Given the description of an element on the screen output the (x, y) to click on. 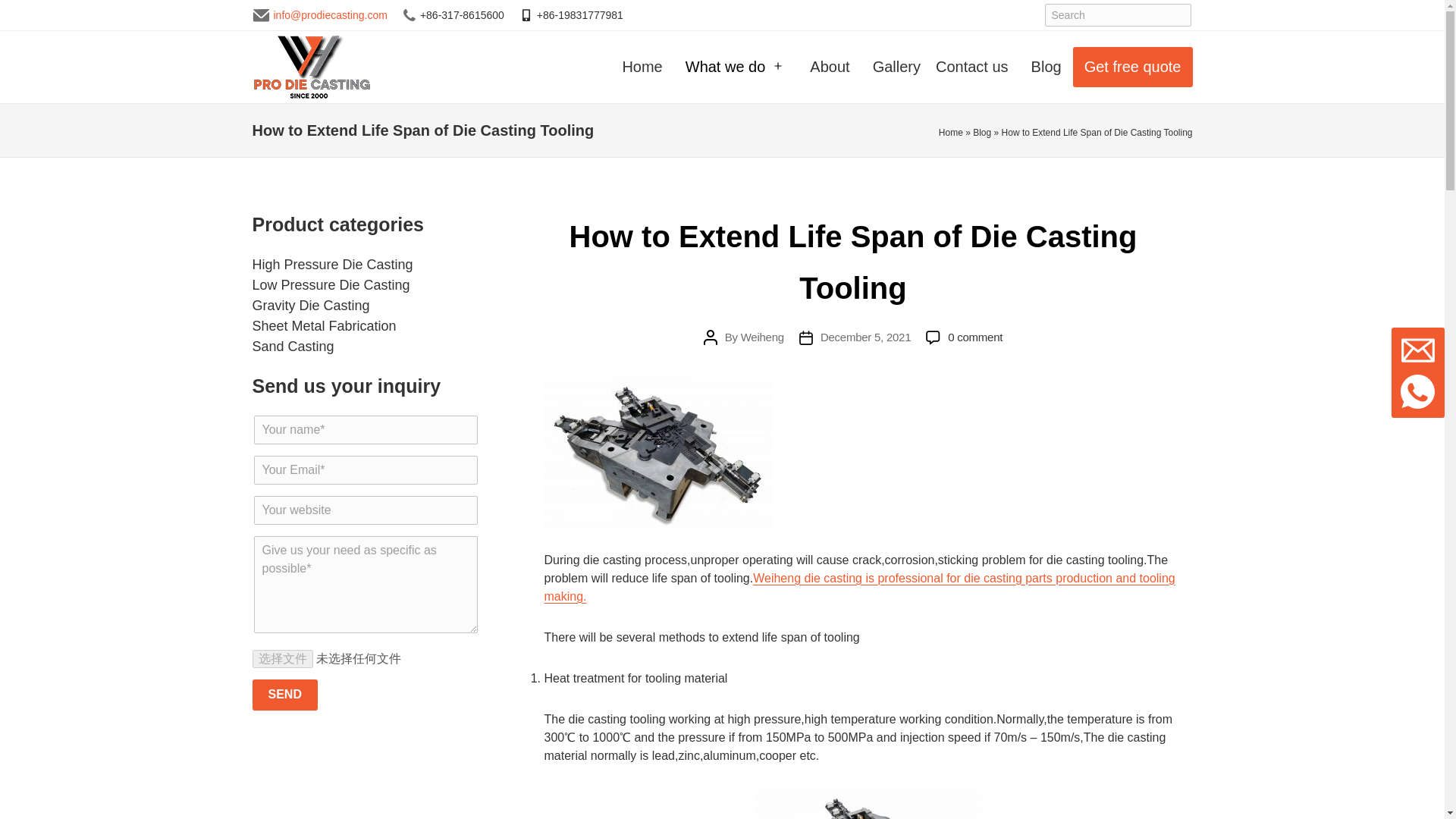
Home (641, 66)
Blog (981, 132)
Get free quote (1132, 66)
Send (284, 694)
About (828, 66)
Gallery (892, 66)
Home (950, 132)
Contact us (972, 66)
How to Extend Life Span of Die Casting Tooling (853, 262)
